Given the description of an element on the screen output the (x, y) to click on. 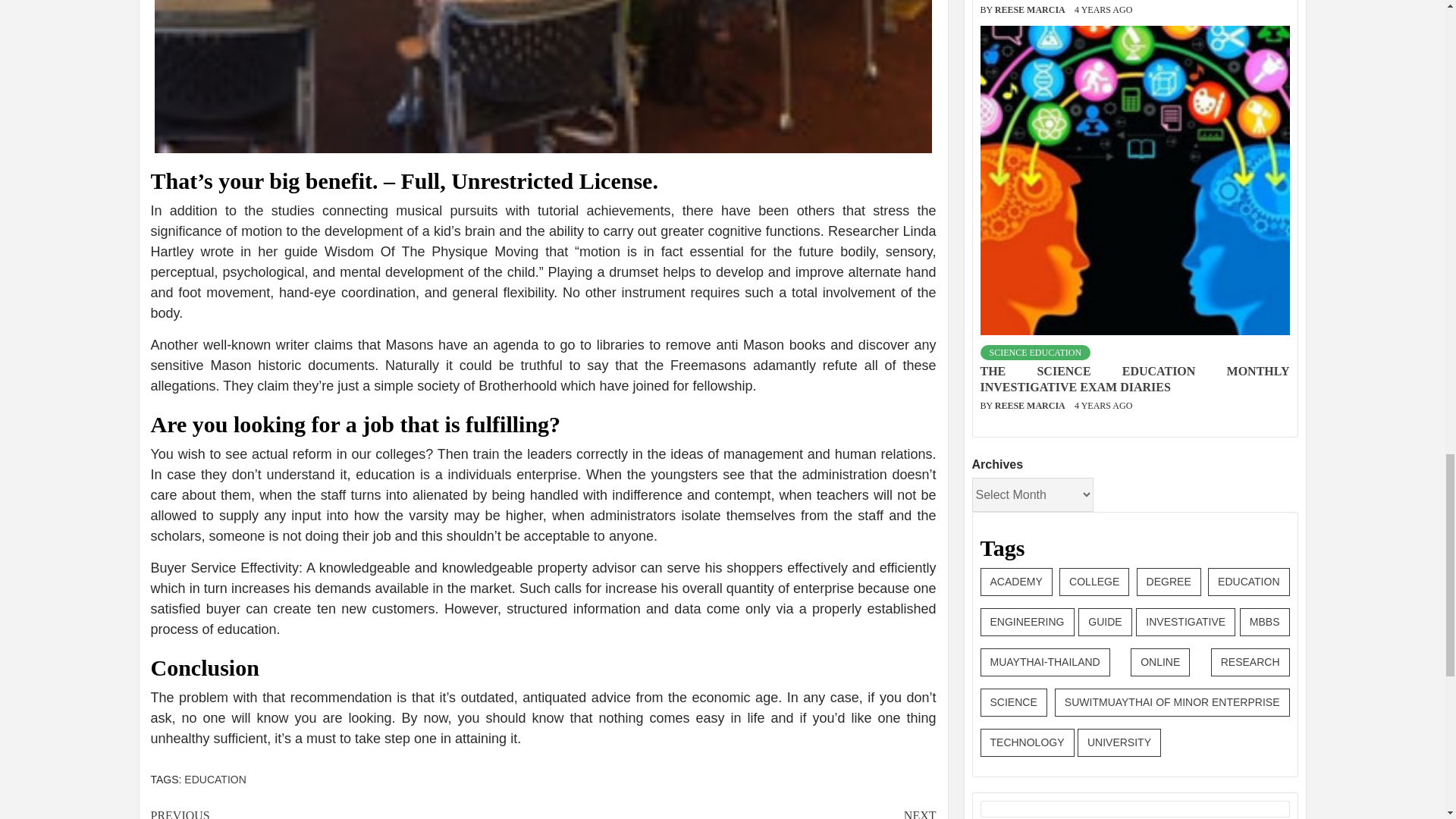
EDUCATION (215, 779)
SCIENCE EDUCATION (1034, 275)
